Given the description of an element on the screen output the (x, y) to click on. 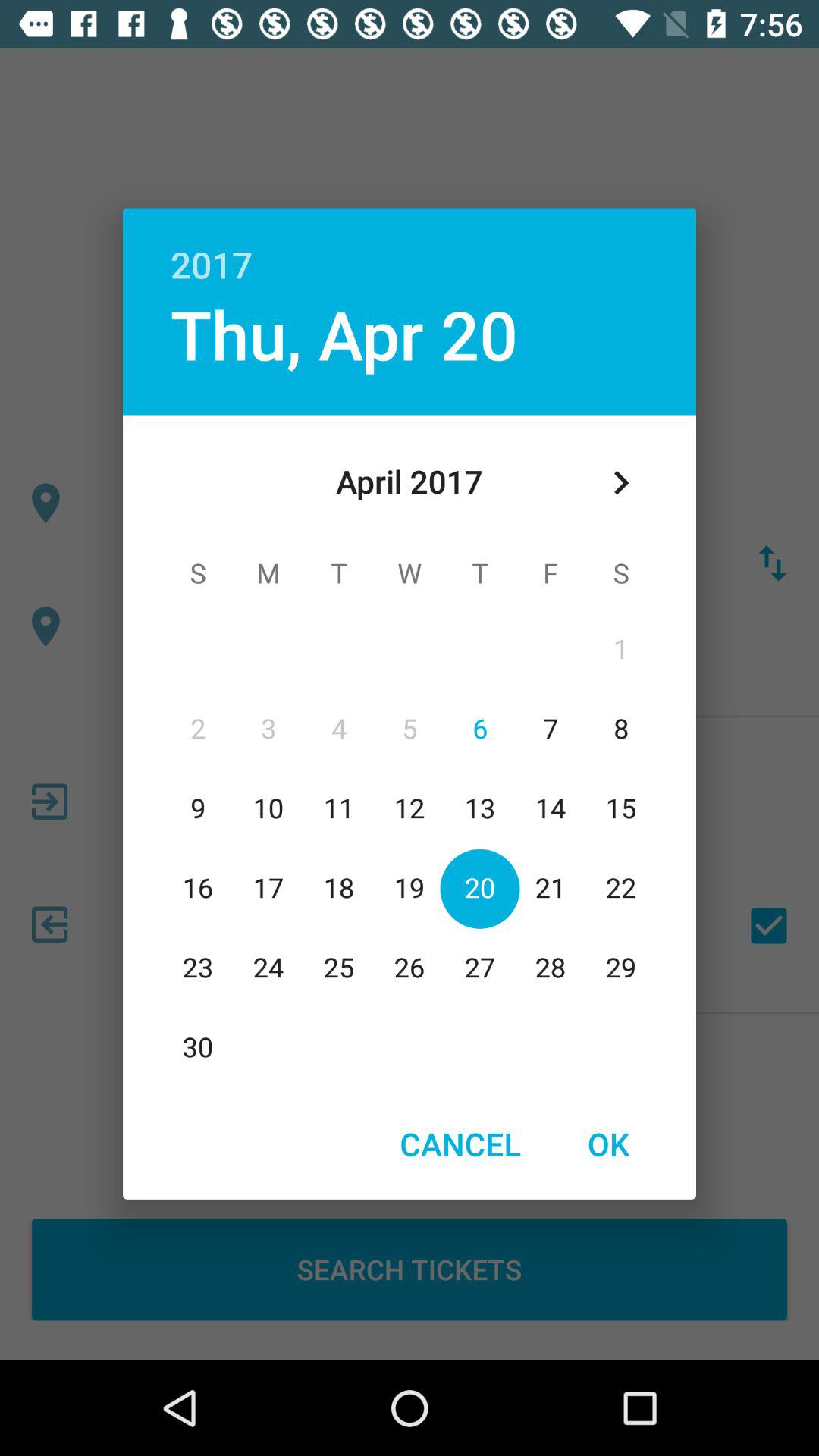
press the thu, apr 20 (344, 333)
